Given the description of an element on the screen output the (x, y) to click on. 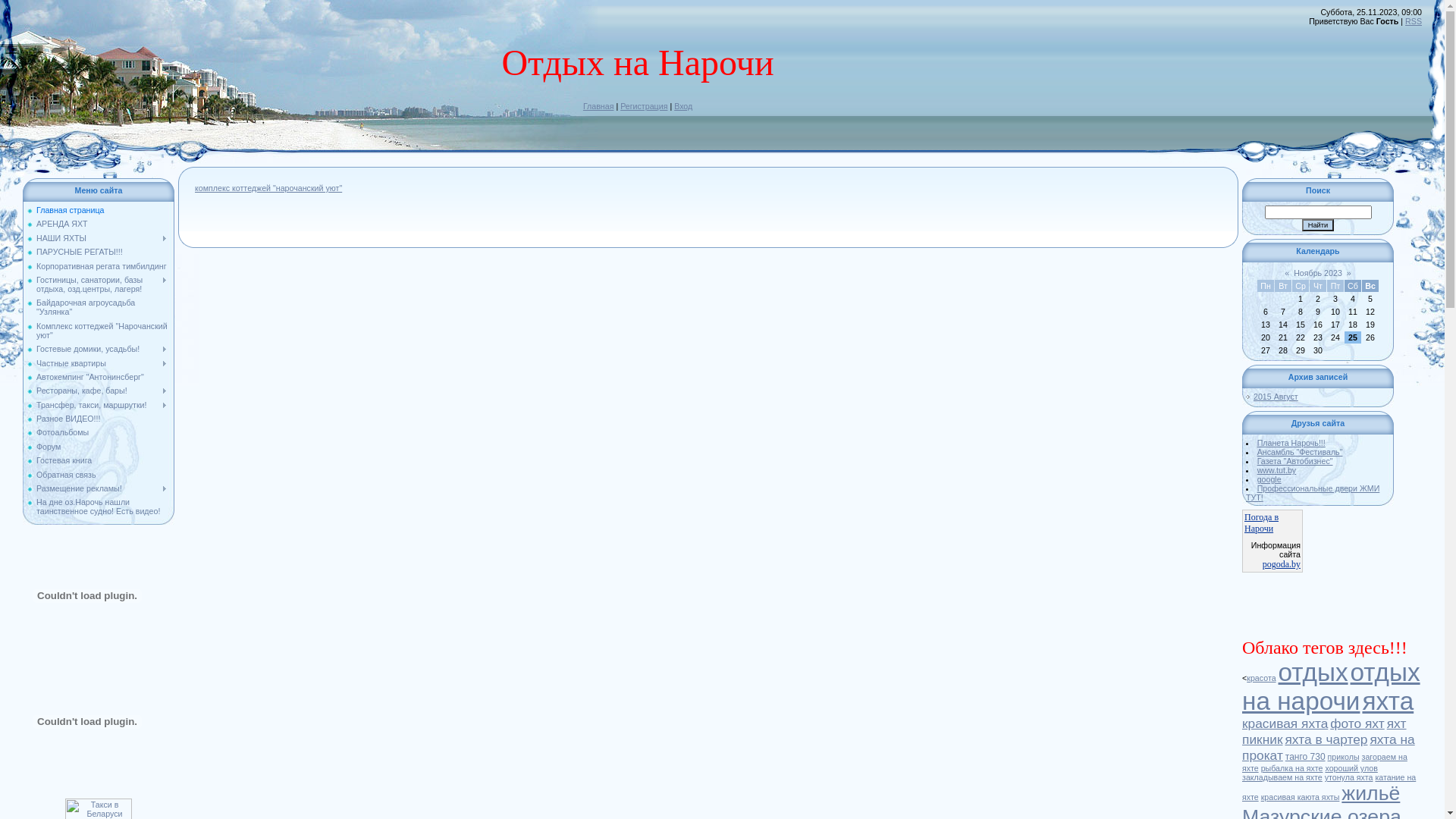
RSS Element type: text (1413, 20)
www.tut.by Element type: text (1276, 469)
google Element type: text (1269, 478)
pogoda.by Element type: text (1281, 563)
